Given the description of an element on the screen output the (x, y) to click on. 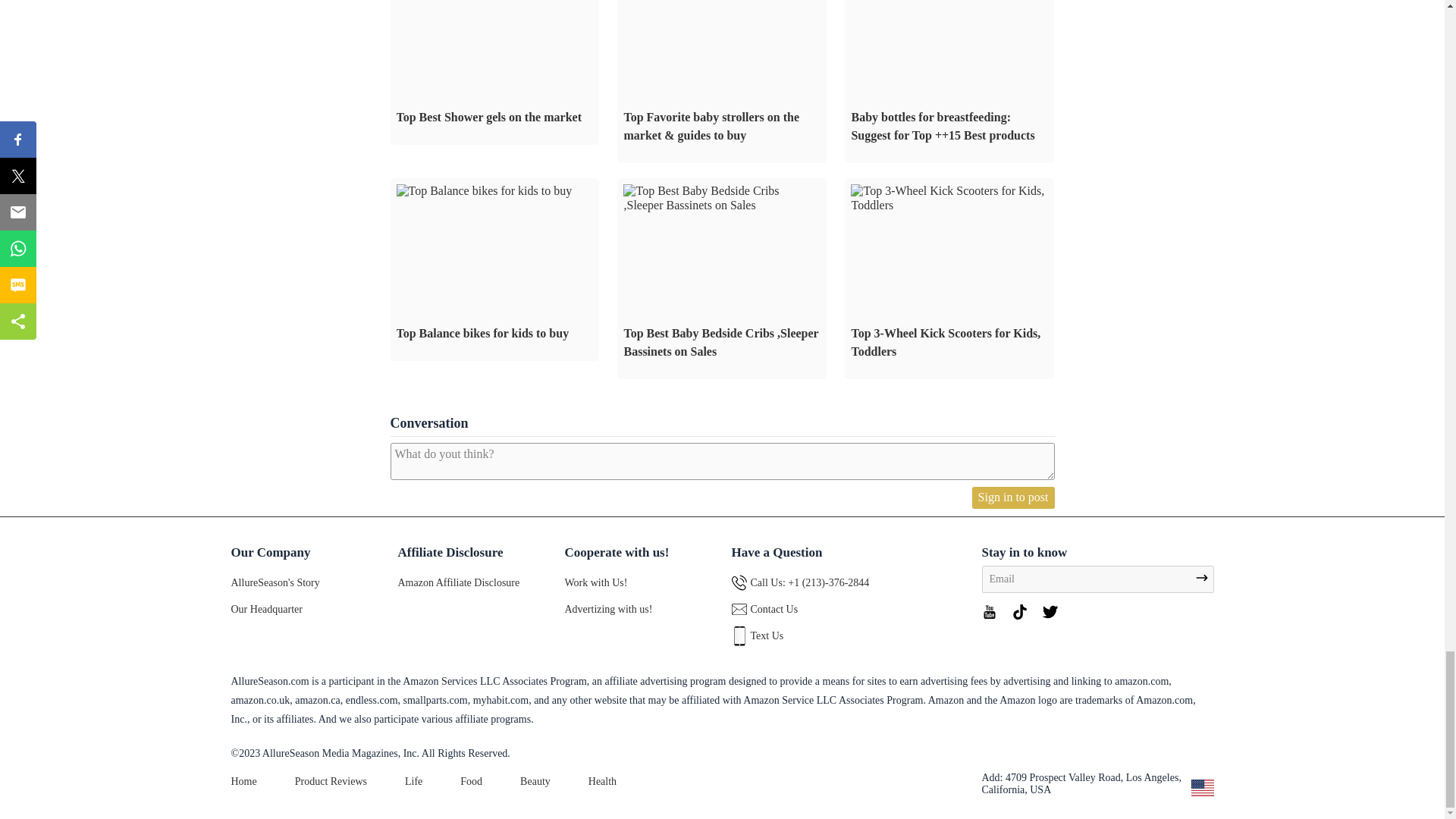
Sign in to post (1013, 496)
Top Best Baby Bedside Cribs ,Sleeper Bassinets on Sales (722, 278)
Top Best Shower gels on the market (494, 72)
Top 3-Wheel Kick Scooters for Kids, Toddlers (949, 278)
Top Best Baby Bedside Cribs ,Sleeper Bassinets on Sales (722, 198)
Top 3-Wheel Kick Scooters for Kids, Toddlers (949, 198)
Top Balance bikes for kids to buy (494, 269)
Our Headquarter (265, 609)
Top Balance bikes for kids to buy (484, 191)
AllureSeason's Story (274, 582)
Amazon Affiliate Disclosure (458, 582)
